Given the description of an element on the screen output the (x, y) to click on. 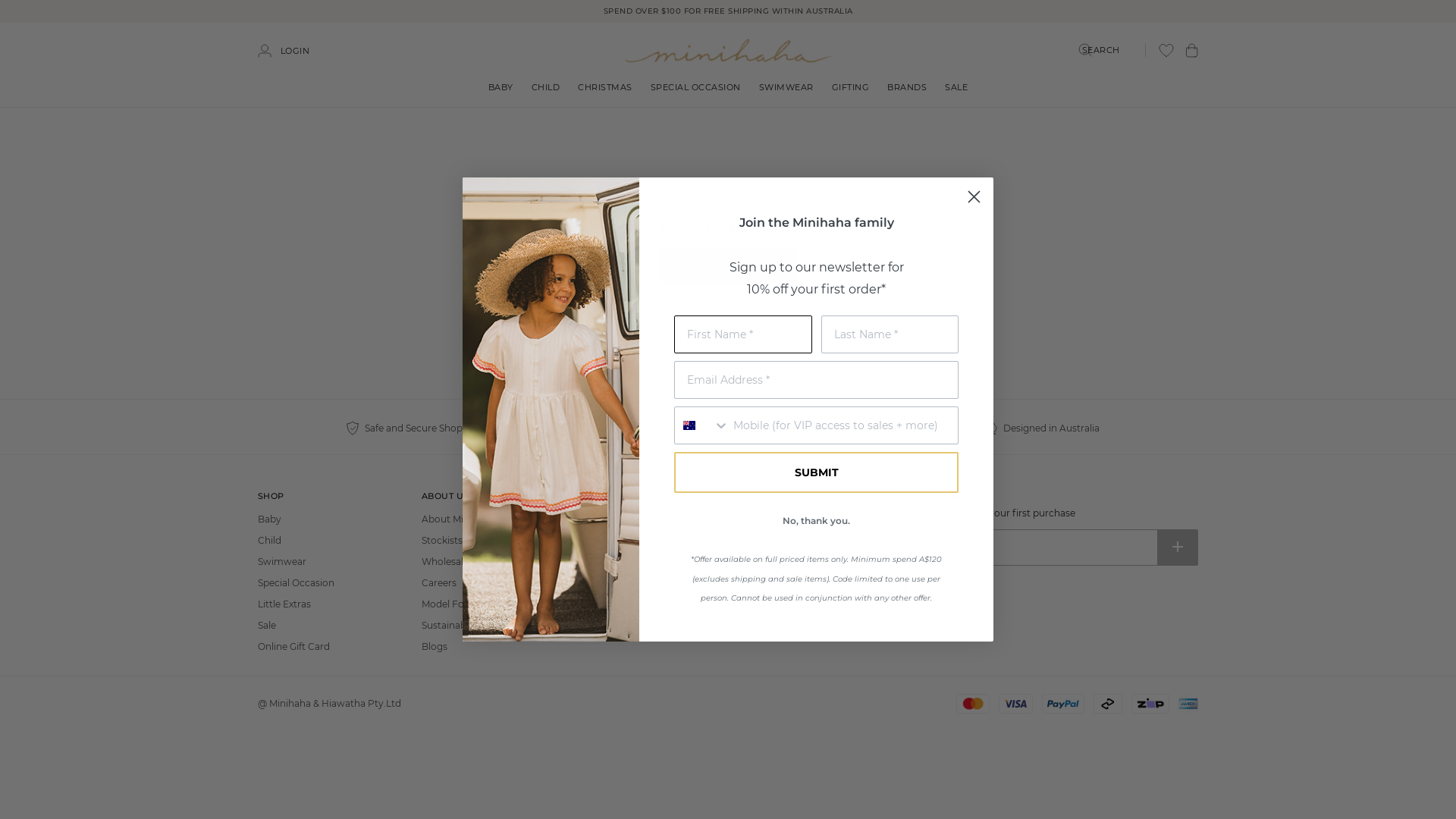
SPECIAL OCCASION Element type: text (695, 84)
GIFTING Element type: text (850, 86)
Sale Element type: text (266, 624)
No, thank you. Element type: text (816, 520)
Contact Us Element type: text (611, 518)
Wholesale Enquiry Element type: text (463, 561)
Swimwear Element type: text (281, 561)
Terms & Conditions Element type: text (629, 603)
GO TO HOMEPAGE Element type: text (727, 265)
Shipping & Returns Element type: text (628, 540)
Wishlist Button Element type: hover (1165, 49)
value Element type: text (6, 6)
Online Gift Card Element type: text (293, 646)
Baby Element type: text (269, 518)
CHILD Element type: text (545, 86)
About Minihaha Element type: text (457, 518)
Stockists Element type: text (441, 540)
CHRISTMAS Element type: text (604, 84)
Special Occasion Element type: text (295, 582)
FAQs Element type: text (597, 561)
SWIMWEAR Element type: text (786, 86)
Submit Element type: text (22, 18)
BABY Element type: text (500, 86)
Child Element type: text (269, 540)
Blogs Element type: text (434, 646)
LOGIN Element type: text (283, 50)
SUBMIT Element type: text (816, 471)
Close dialog 1 Element type: text (973, 196)
Privacy Policy Element type: text (617, 582)
Little Extras Element type: text (283, 603)
Careers Element type: text (438, 582)
SALE Element type: text (955, 86)
BRANDS Element type: text (906, 86)
Sustainability Element type: text (451, 624)
Australia Element type: hover (689, 425)
Model Form Element type: text (449, 603)
